Given the description of an element on the screen output the (x, y) to click on. 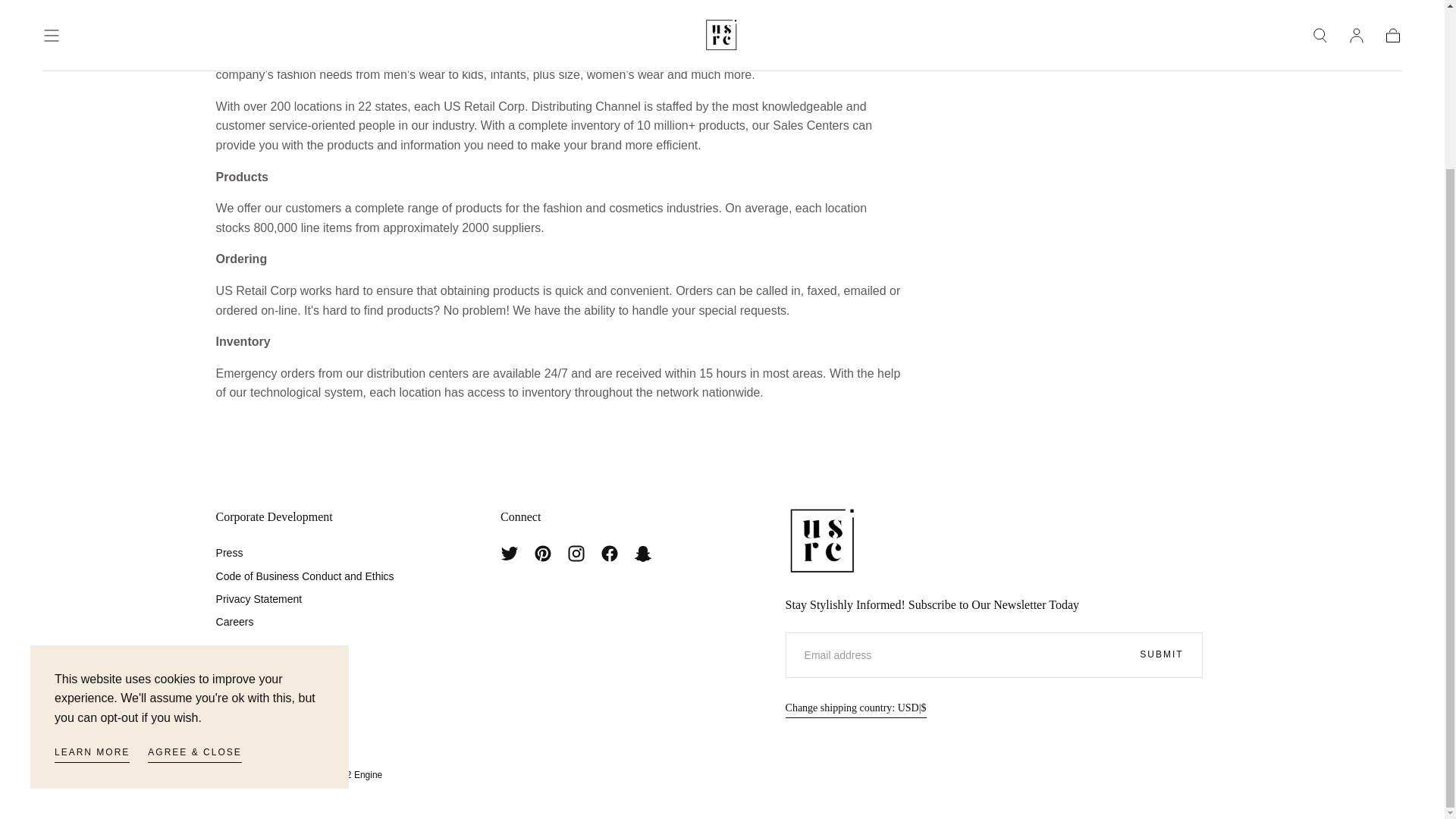
Code of Business Conduct and Ethics (304, 576)
USRC (825, 541)
Careers (304, 621)
Privacy Statement (304, 598)
SUBMIT (1161, 655)
Press (304, 552)
LEARN MORE (92, 552)
